Given the description of an element on the screen output the (x, y) to click on. 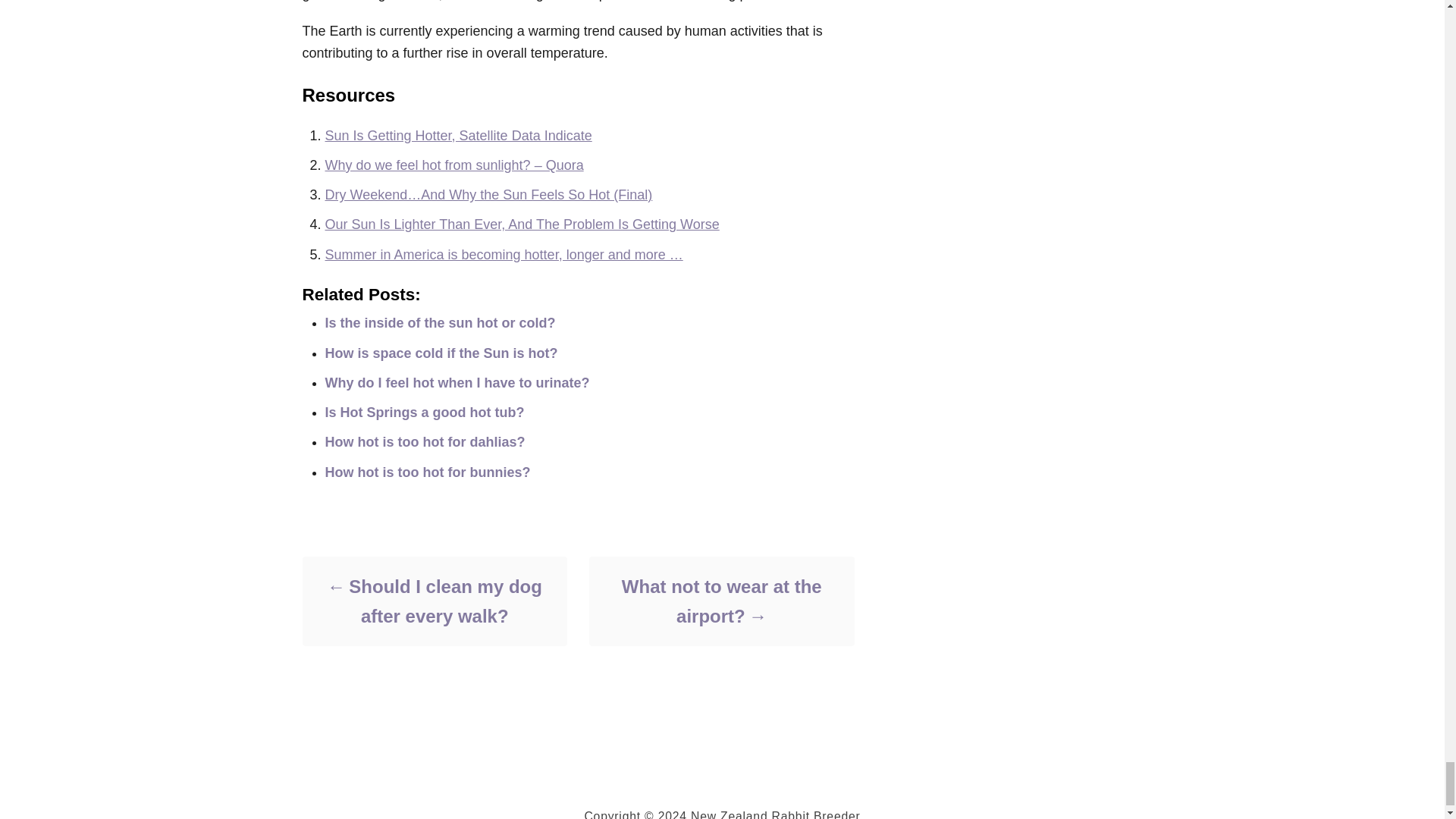
Sun Is Getting Hotter, Satellite Data Indicate (457, 135)
Why do I feel hot when I have to urinate? (456, 382)
Is the inside of the sun hot or cold? (439, 322)
How is space cold if the Sun is hot? (440, 353)
Is Hot Springs a good hot tub? (424, 412)
